Given the description of an element on the screen output the (x, y) to click on. 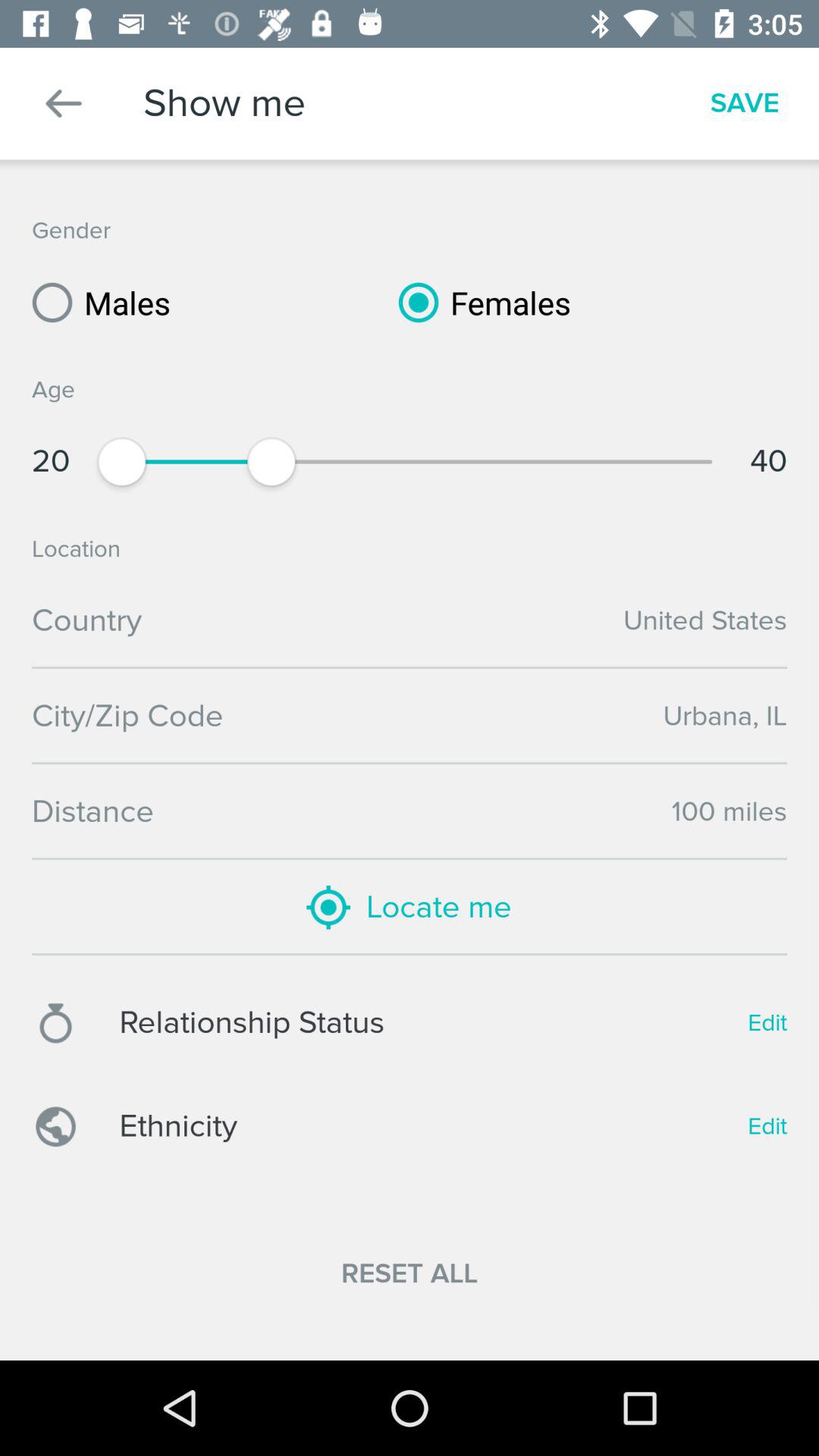
select icon above the age item (478, 302)
